Given the description of an element on the screen output the (x, y) to click on. 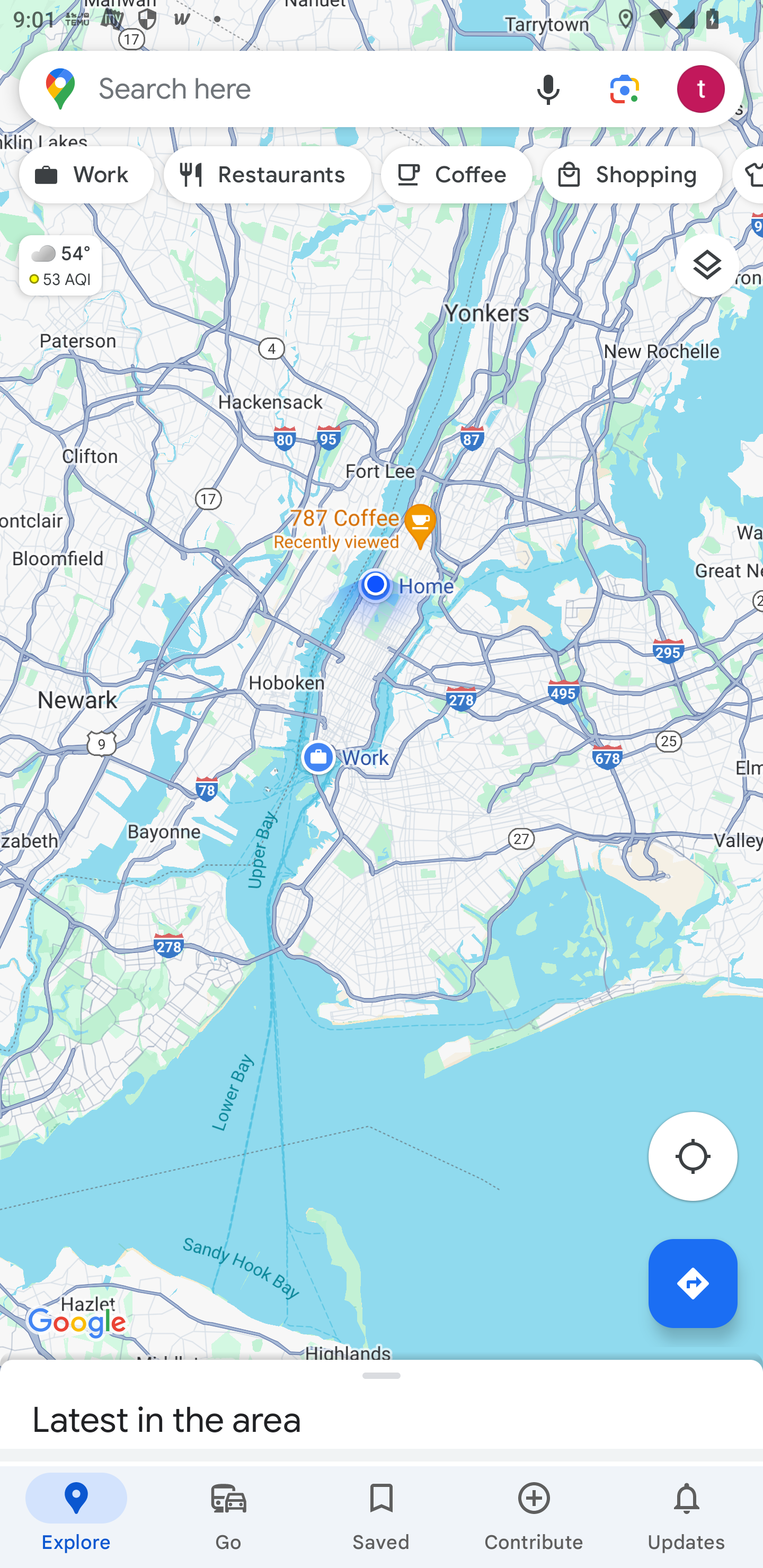
Search here (264, 88)
Voice search (548, 88)
Lens in Maps (624, 88)
Account and settings. (703, 88)
Work (86, 174)
Restaurants Search for Restaurants (267, 174)
Coffee Search for Coffee (456, 174)
Shopping Search for Shopping (631, 174)
Cloudy, 54°, Moderate, 53 AQI 54° 53 AQI (50, 257)
Layers (716, 271)
Re-center map to your location (702, 1161)
Directions (692, 1283)
Go (228, 1517)
Saved (381, 1517)
Contribute (533, 1517)
Updates (686, 1517)
